Given the description of an element on the screen output the (x, y) to click on. 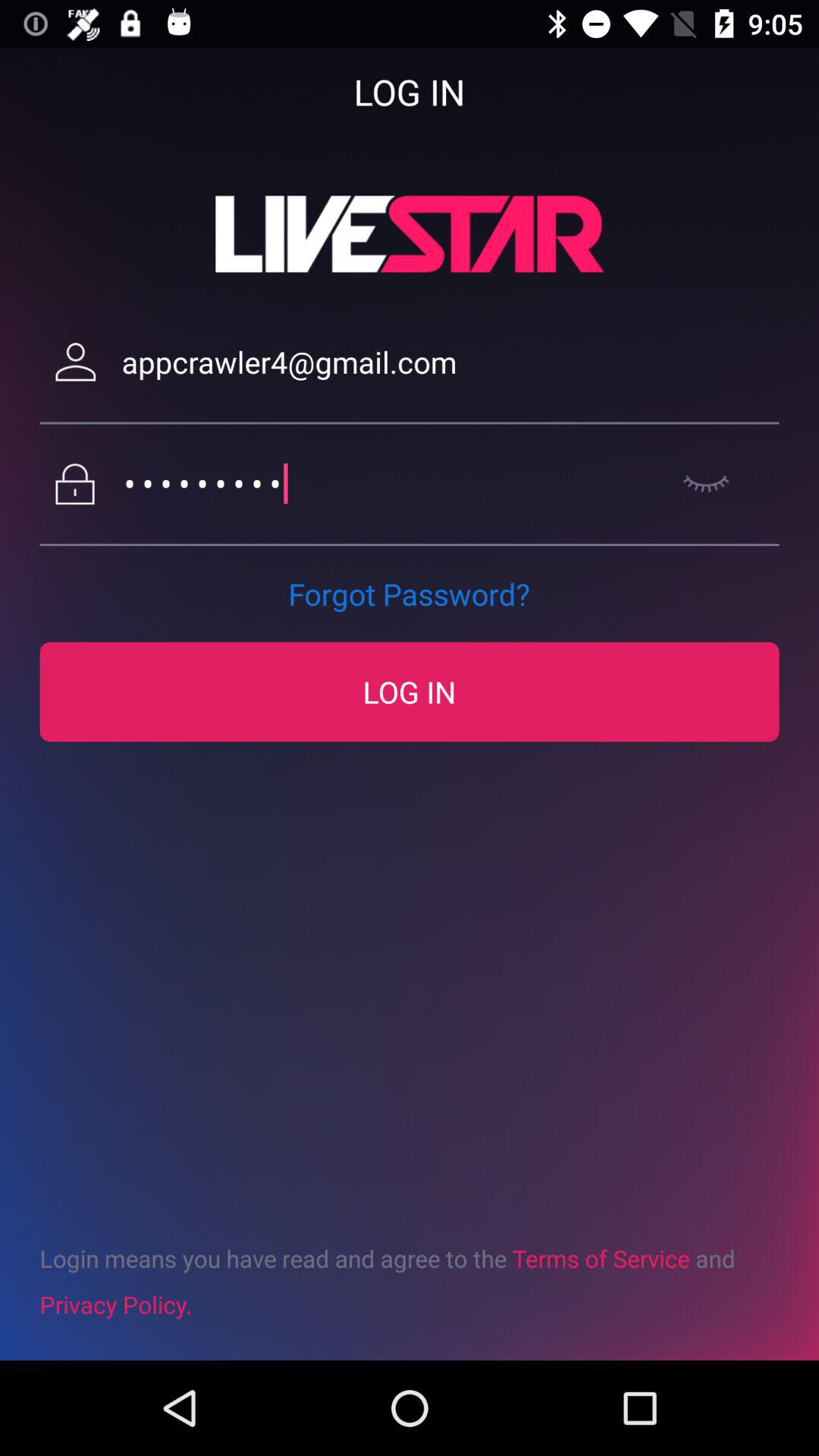
jump to the crowd3116 (391, 483)
